Given the description of an element on the screen output the (x, y) to click on. 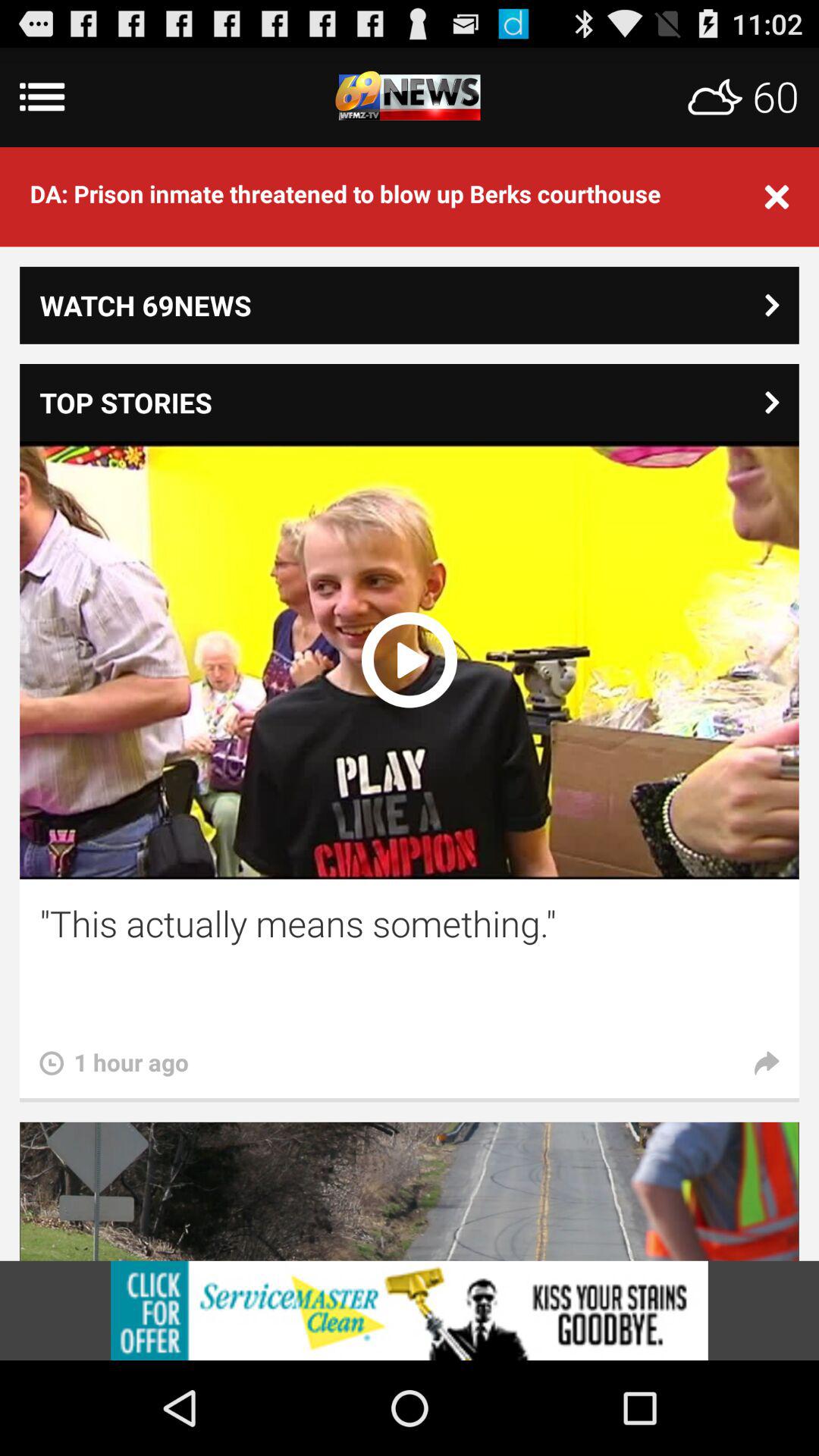
click to view advertisements (409, 1310)
